Given the description of an element on the screen output the (x, y) to click on. 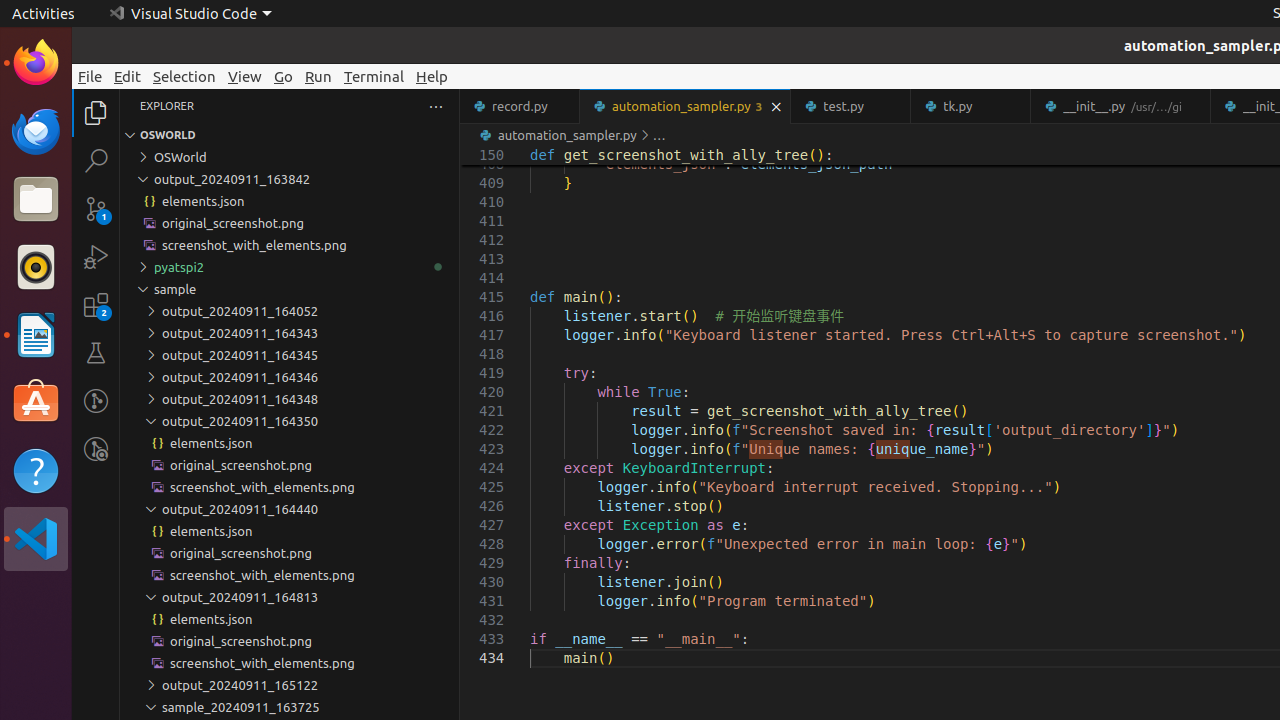
Go Element type: push-button (283, 76)
record.py Element type: page-tab (520, 106)
Terminal Element type: push-button (374, 76)
View Element type: push-button (245, 76)
